Given the description of an element on the screen output the (x, y) to click on. 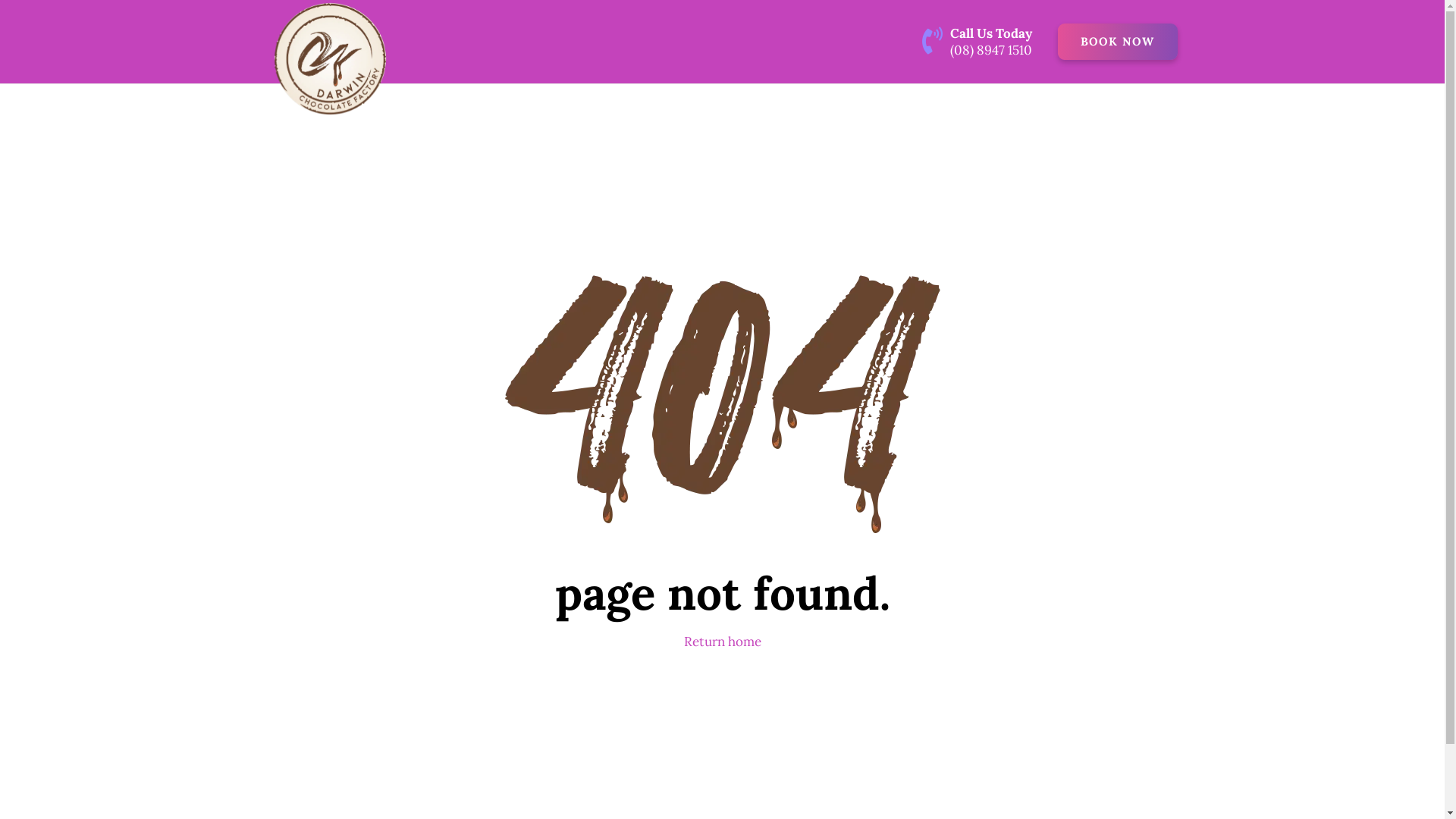
Return home Element type: text (722, 641)
(08) 8947 1510 Element type: text (991, 48)
BOOK NOW Element type: text (1117, 41)
